Given the description of an element on the screen output the (x, y) to click on. 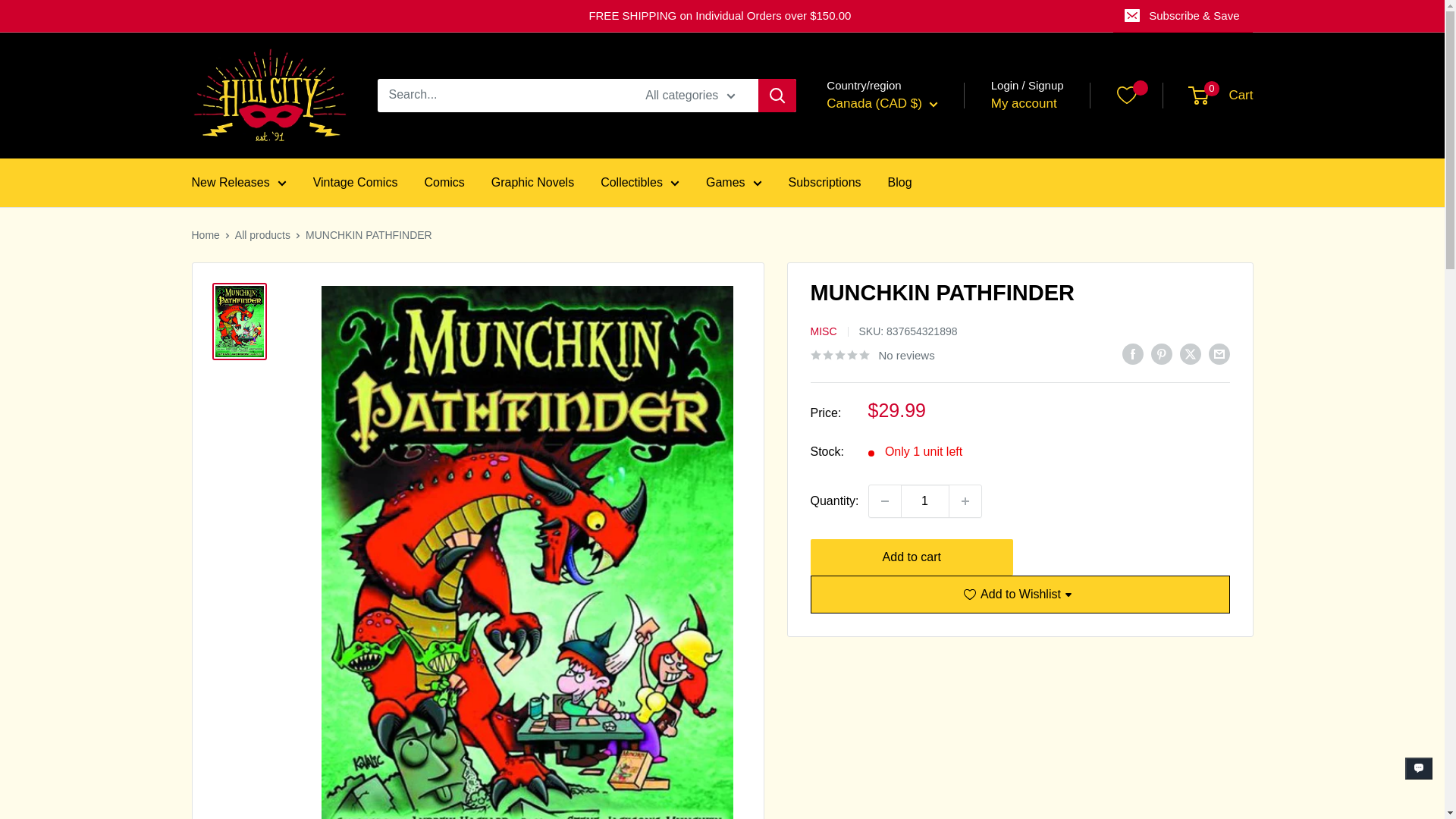
Decrease quantity by 1 (885, 500)
Increase quantity by 1 (965, 500)
1 (925, 500)
